Given the description of an element on the screen output the (x, y) to click on. 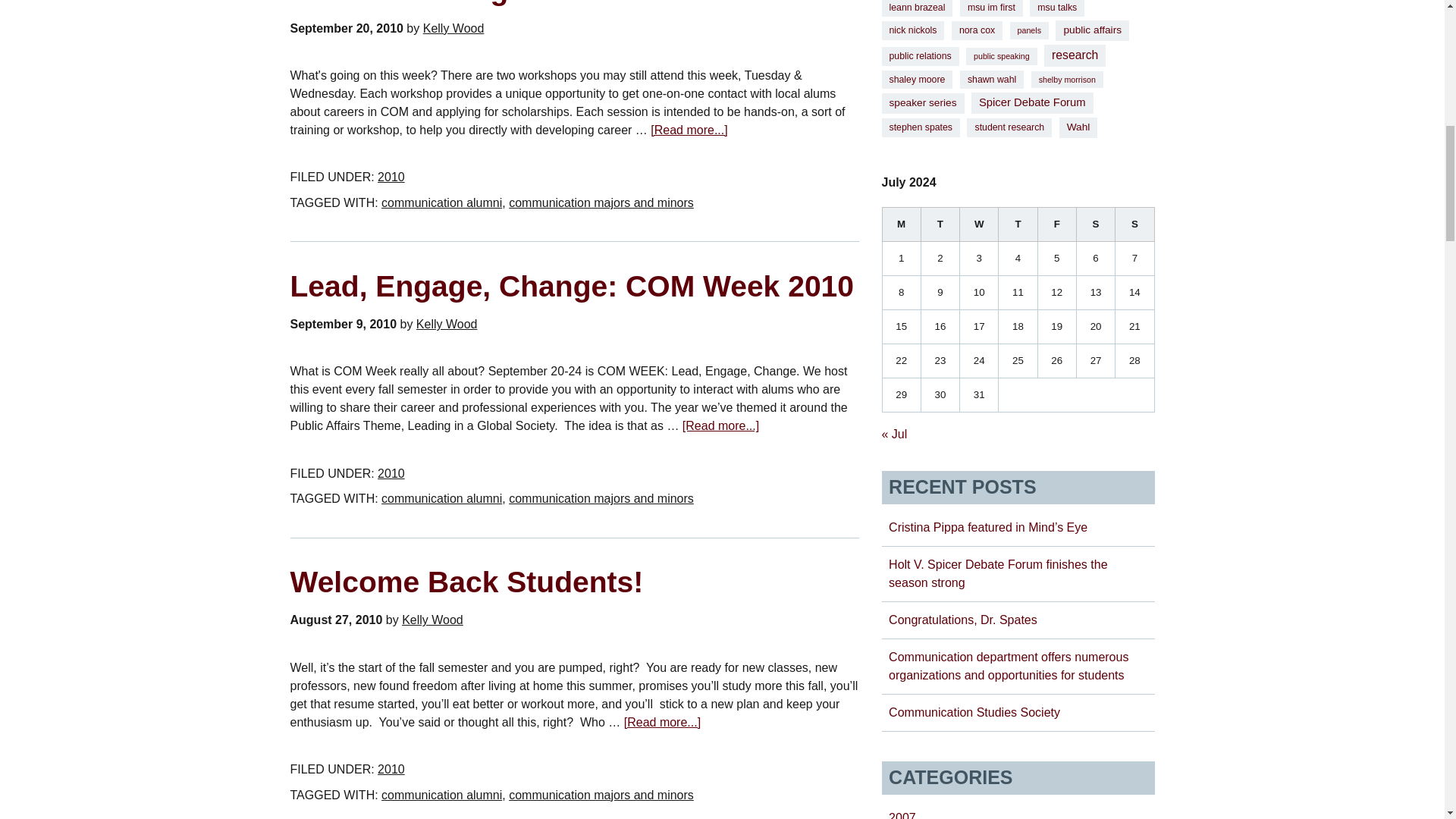
Saturday (1095, 224)
Sunday (1134, 224)
Thursday (1017, 224)
Friday (1055, 224)
Monday (901, 224)
Wednesday (978, 224)
Tuesday (939, 224)
